Given the description of an element on the screen output the (x, y) to click on. 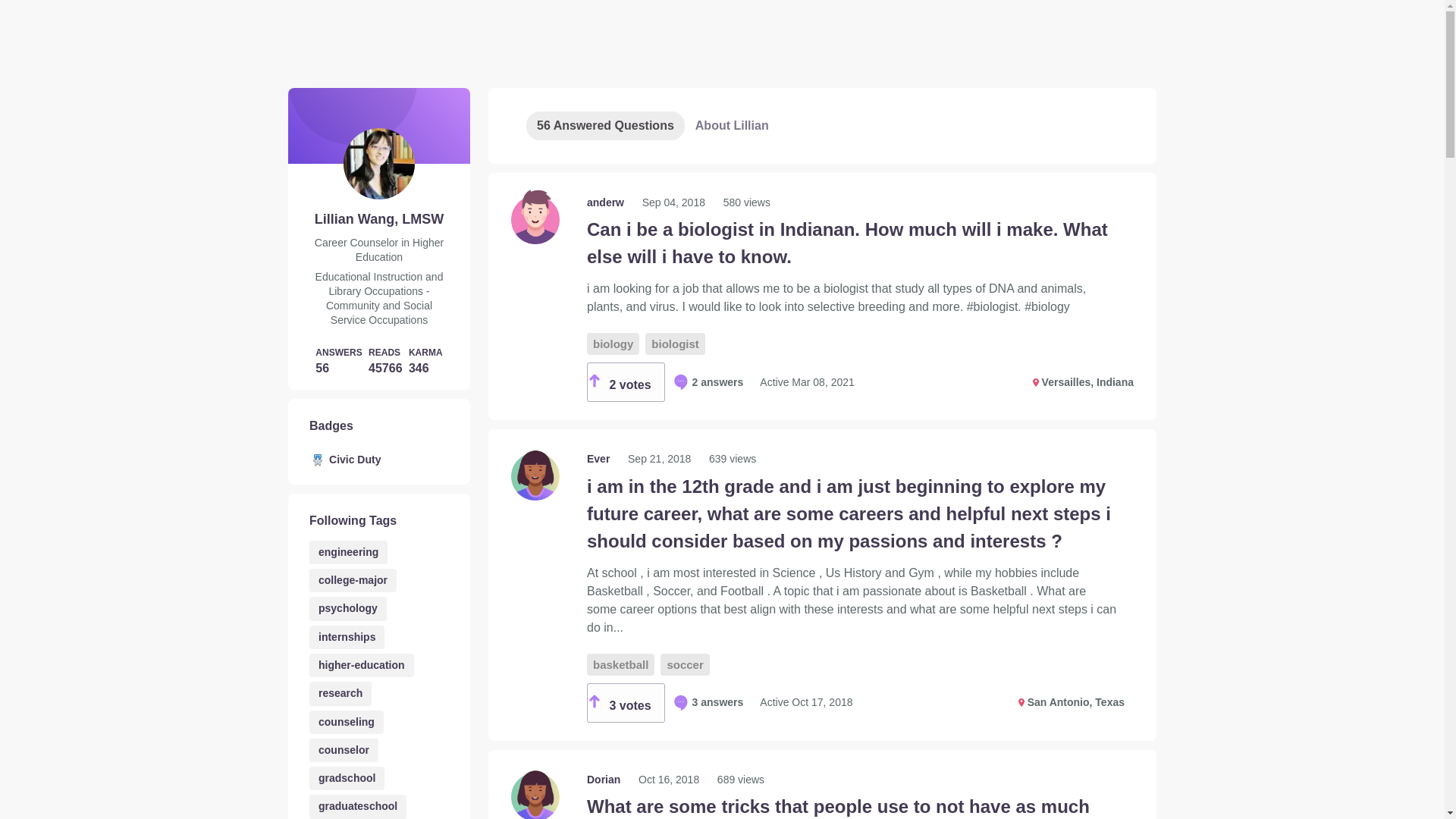
internships (346, 637)
See Career Questions tagged 'Engineering' (347, 552)
psychology (347, 608)
higher-education (360, 665)
See Career Questions tagged 'Counseling' (346, 721)
About Lillian (731, 125)
See Career Questions tagged 'Gradschool' (346, 778)
See Career Questions tagged 'Graduateschool' (357, 806)
56 Answered Questions (604, 125)
counselor (343, 750)
